Given the description of an element on the screen output the (x, y) to click on. 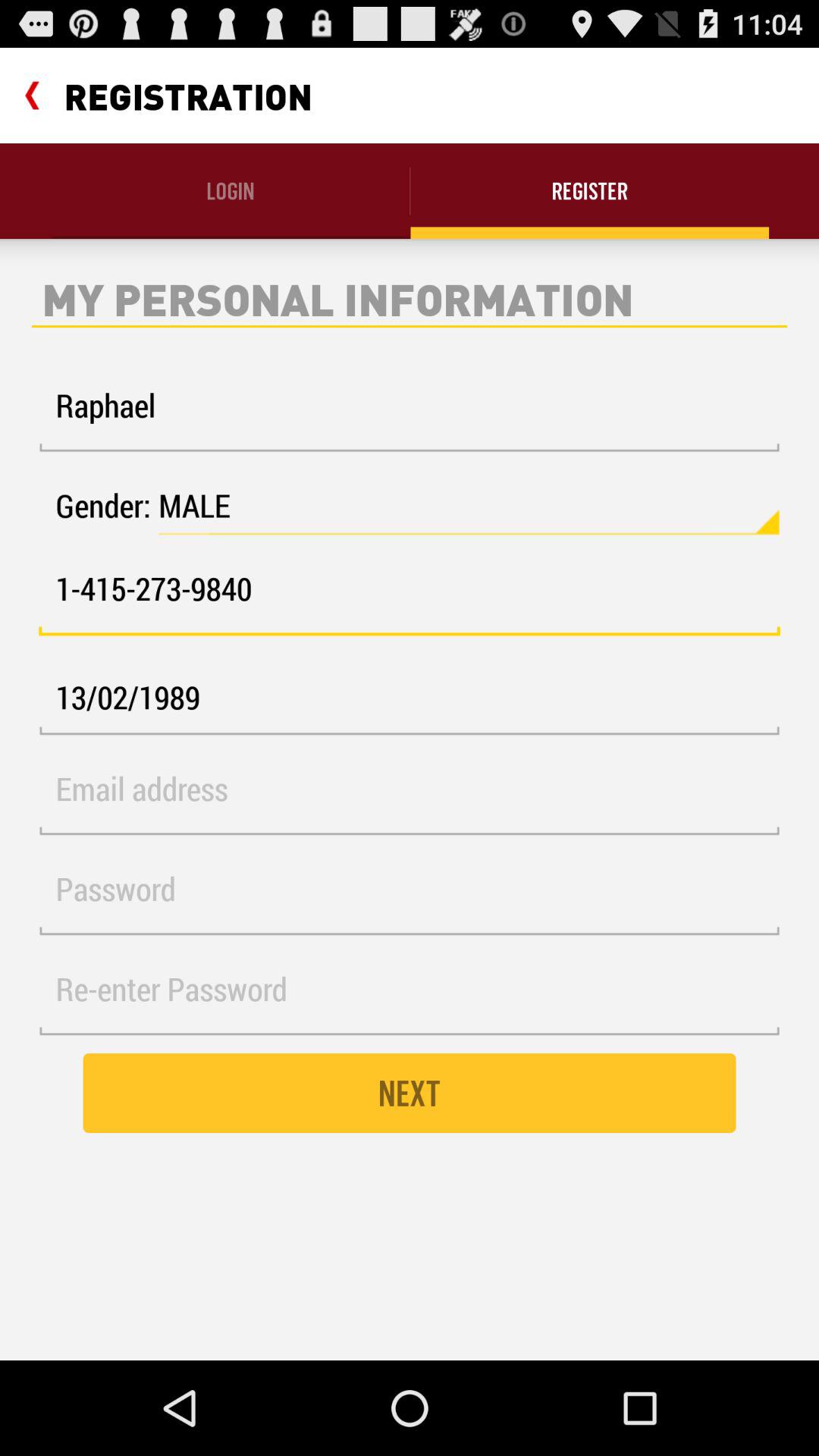
tap the icon above 1 415 273 (468, 505)
